Given the description of an element on the screen output the (x, y) to click on. 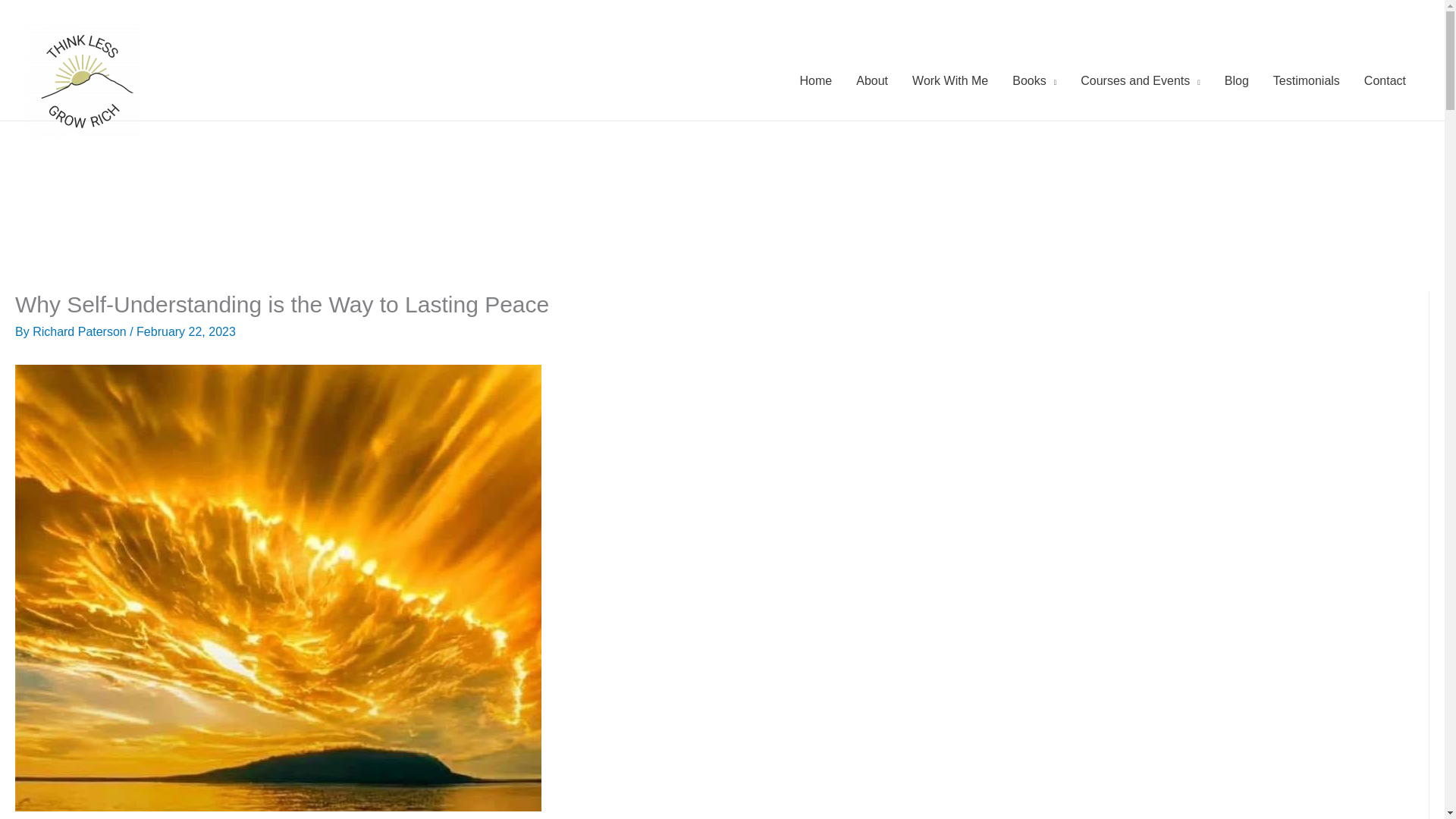
View all posts by Richard Paterson (80, 331)
Home (815, 80)
Testimonials (1306, 80)
Richard Paterson (80, 331)
Books (1034, 80)
Courses and Events (1140, 80)
Work With Me (949, 80)
About (871, 80)
Contact (1385, 80)
Blog (1236, 80)
